Given the description of an element on the screen output the (x, y) to click on. 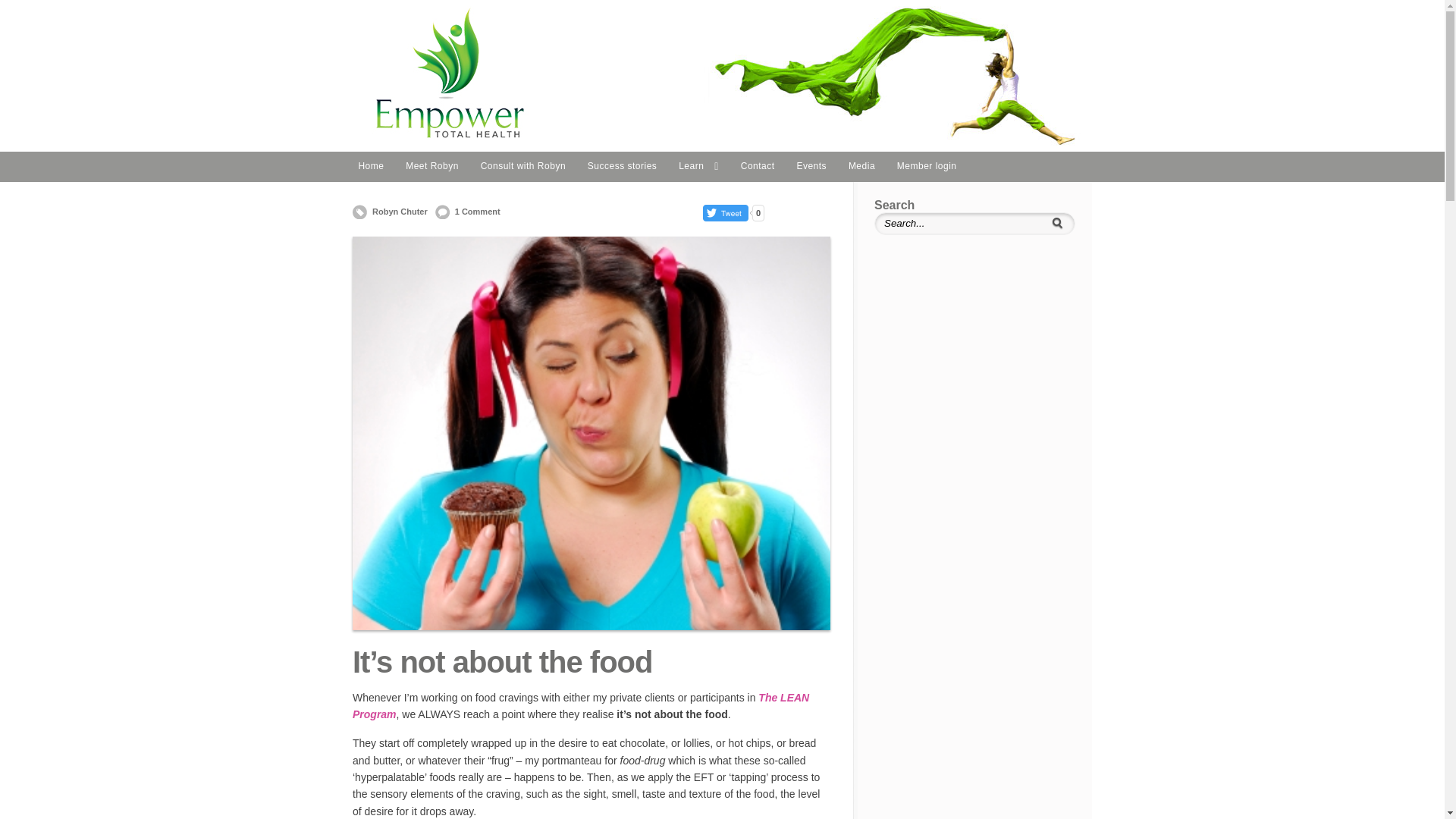
Robyn Chuter Element type: text (389, 211)
Empower Total Health Element type: hover (721, 147)
Consult with Robyn Element type: text (522, 166)
Success stories Element type: text (621, 166)
Contact Element type: text (757, 166)
Learn Element type: text (699, 166)
The LEAN Program Element type: text (580, 705)
Media Element type: text (861, 166)
Meet Robyn Element type: text (432, 166)
1 Comment Element type: text (467, 211)
Search Element type: text (1057, 223)
Member login Element type: text (925, 166)
Events Element type: text (811, 166)
Home Element type: text (371, 166)
